Given the description of an element on the screen output the (x, y) to click on. 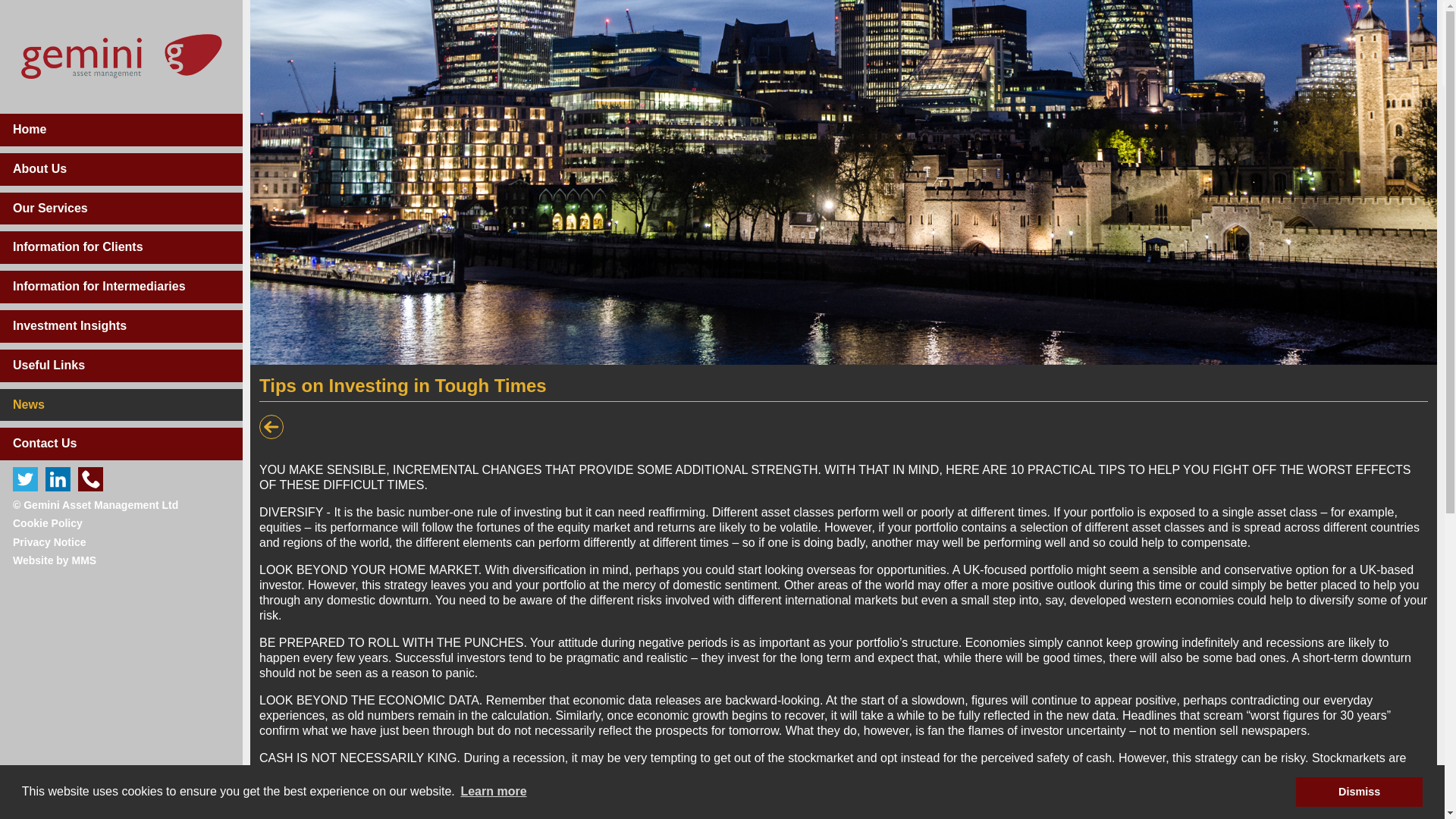
Cookie Policy (47, 522)
Home (121, 129)
Useful Links (121, 365)
About Us (121, 169)
Dismiss (1358, 791)
LinkedIn (57, 478)
Free Phone (90, 478)
Privacy Notice (49, 541)
Back (271, 426)
Twitter (25, 478)
Our Services (121, 208)
Information for Intermediaries (121, 287)
MMS (84, 560)
Contact Us (121, 443)
Investment Insights (121, 326)
